Given the description of an element on the screen output the (x, y) to click on. 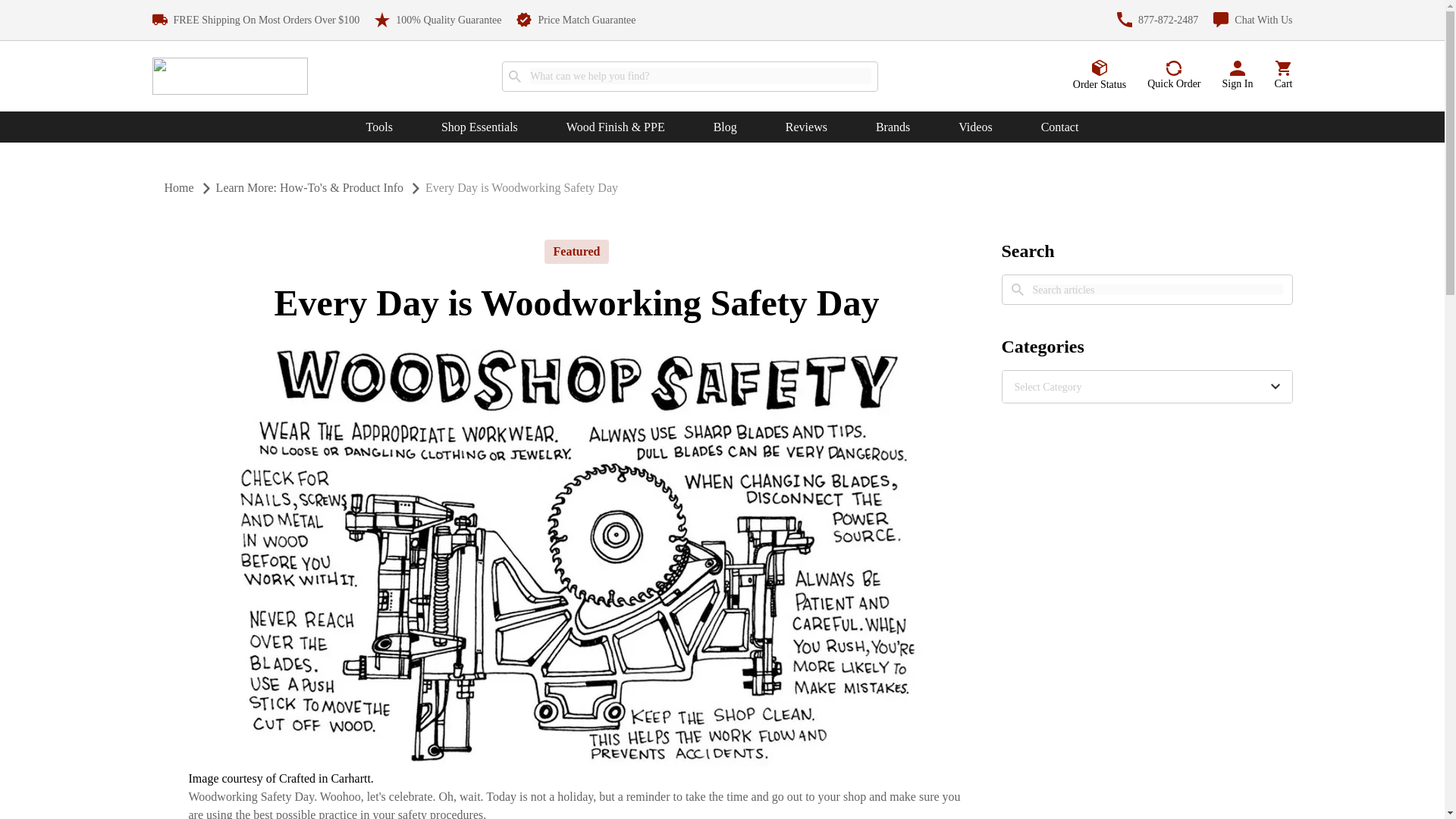
Cart (1283, 75)
Quick Order (1173, 75)
877-872-2487 (1157, 19)
Sign In (1238, 75)
Order Status (1099, 75)
Chat With Us (1252, 19)
Tools (379, 126)
